Given the description of an element on the screen output the (x, y) to click on. 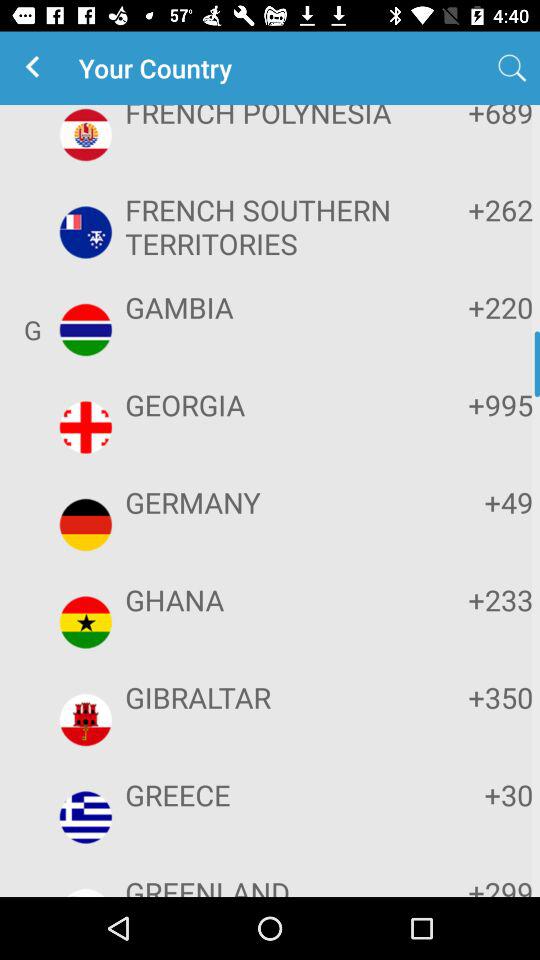
choose item above the gibraltar icon (267, 599)
